Given the description of an element on the screen output the (x, y) to click on. 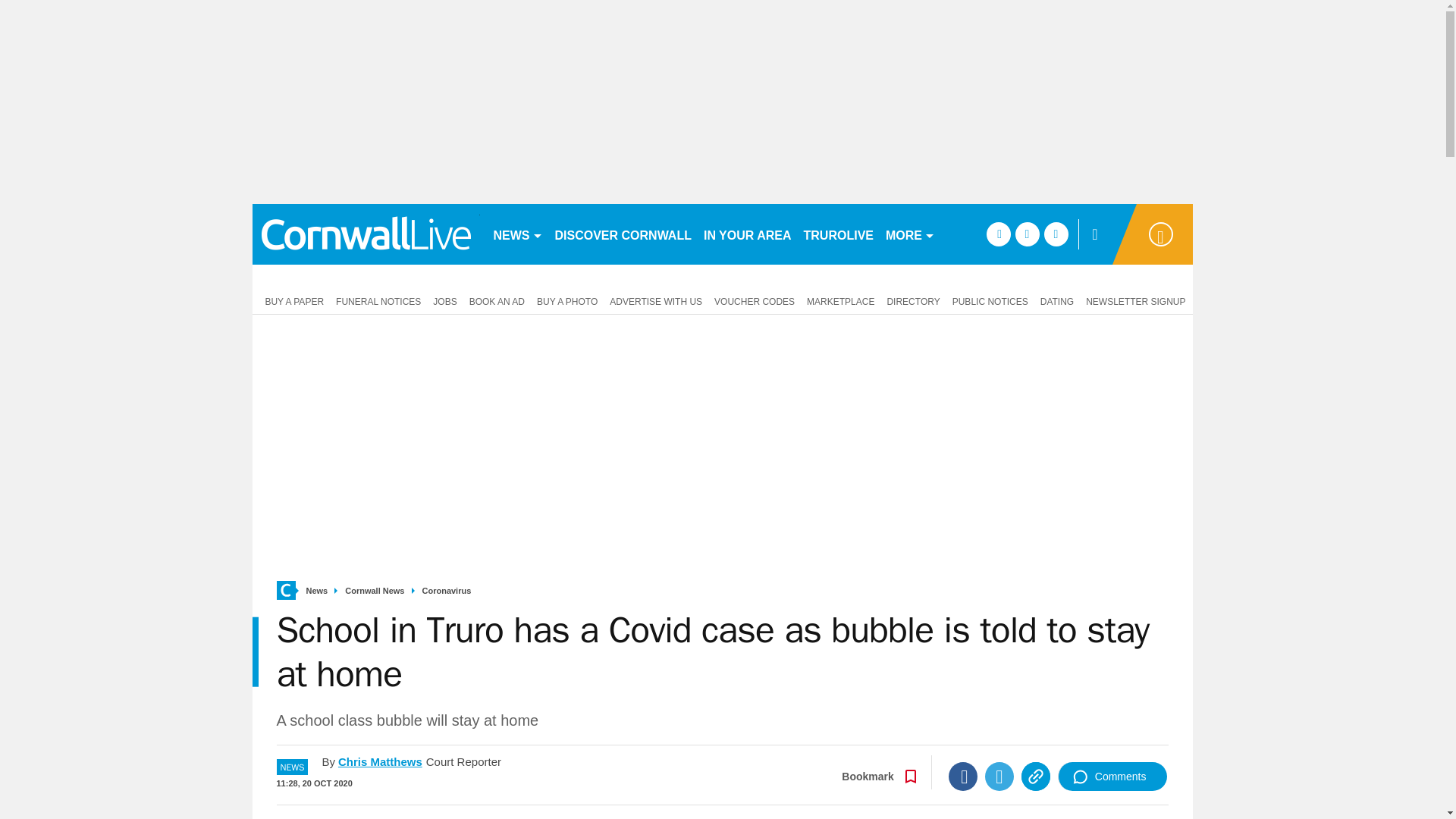
cornwalllive (365, 233)
Comments (1112, 776)
twitter (1026, 233)
TRUROLIVE (838, 233)
Twitter (999, 776)
instagram (1055, 233)
facebook (997, 233)
MORE (909, 233)
Facebook (962, 776)
DISCOVER CORNWALL (622, 233)
IN YOUR AREA (747, 233)
NEWS (517, 233)
